Given the description of an element on the screen output the (x, y) to click on. 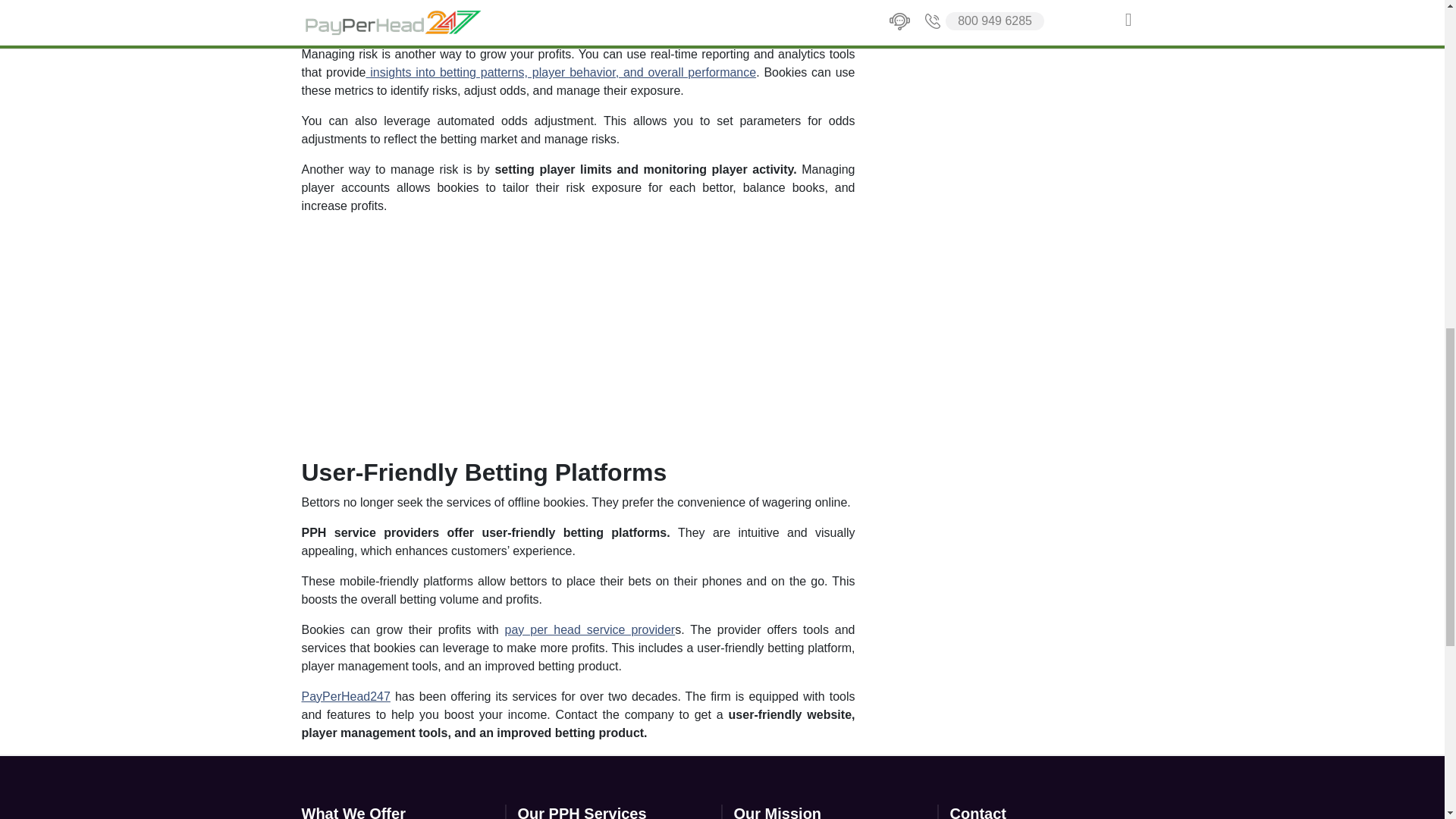
We are a Pay Per Head Sportsbook   PPH247 (491, 333)
PayPerHead247 (345, 696)
pay per head service provider (590, 629)
